Given the description of an element on the screen output the (x, y) to click on. 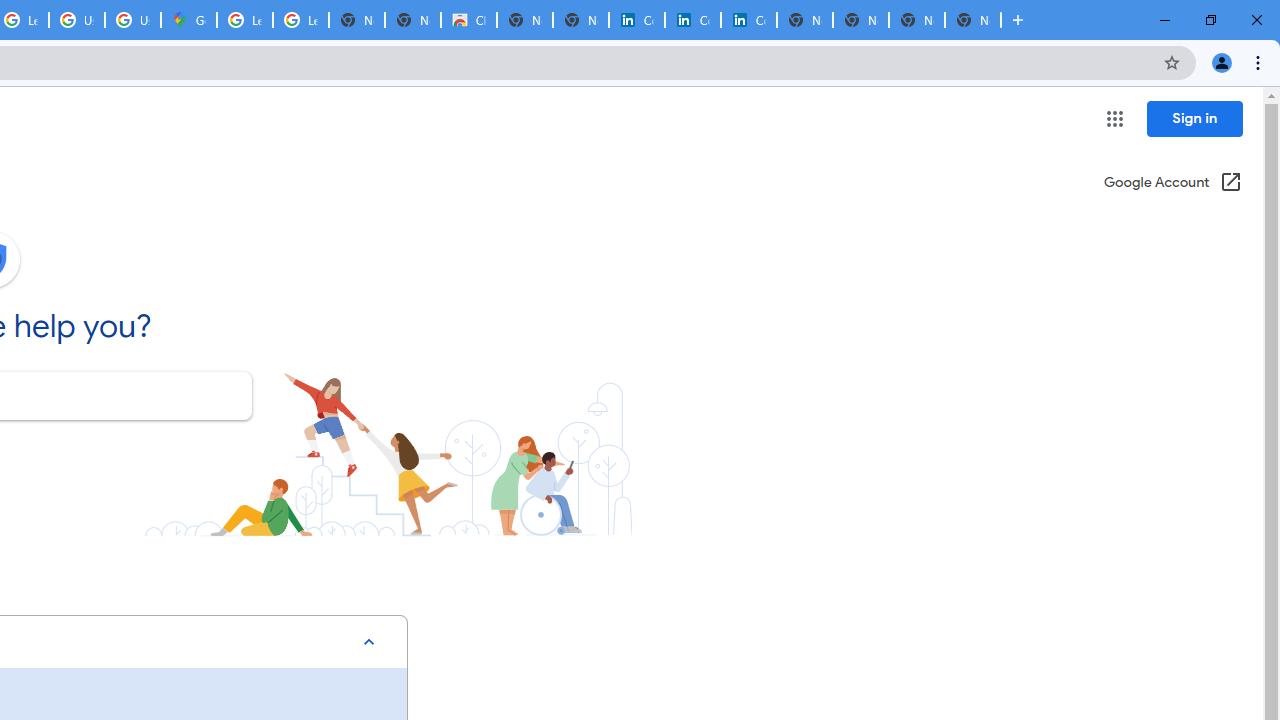
New Tab (972, 20)
Cookie Policy | LinkedIn (692, 20)
Copyright Policy (748, 20)
Google Account (Open in a new window) (1172, 183)
Chrome Web Store (468, 20)
Cookie Policy | LinkedIn (637, 20)
